Given the description of an element on the screen output the (x, y) to click on. 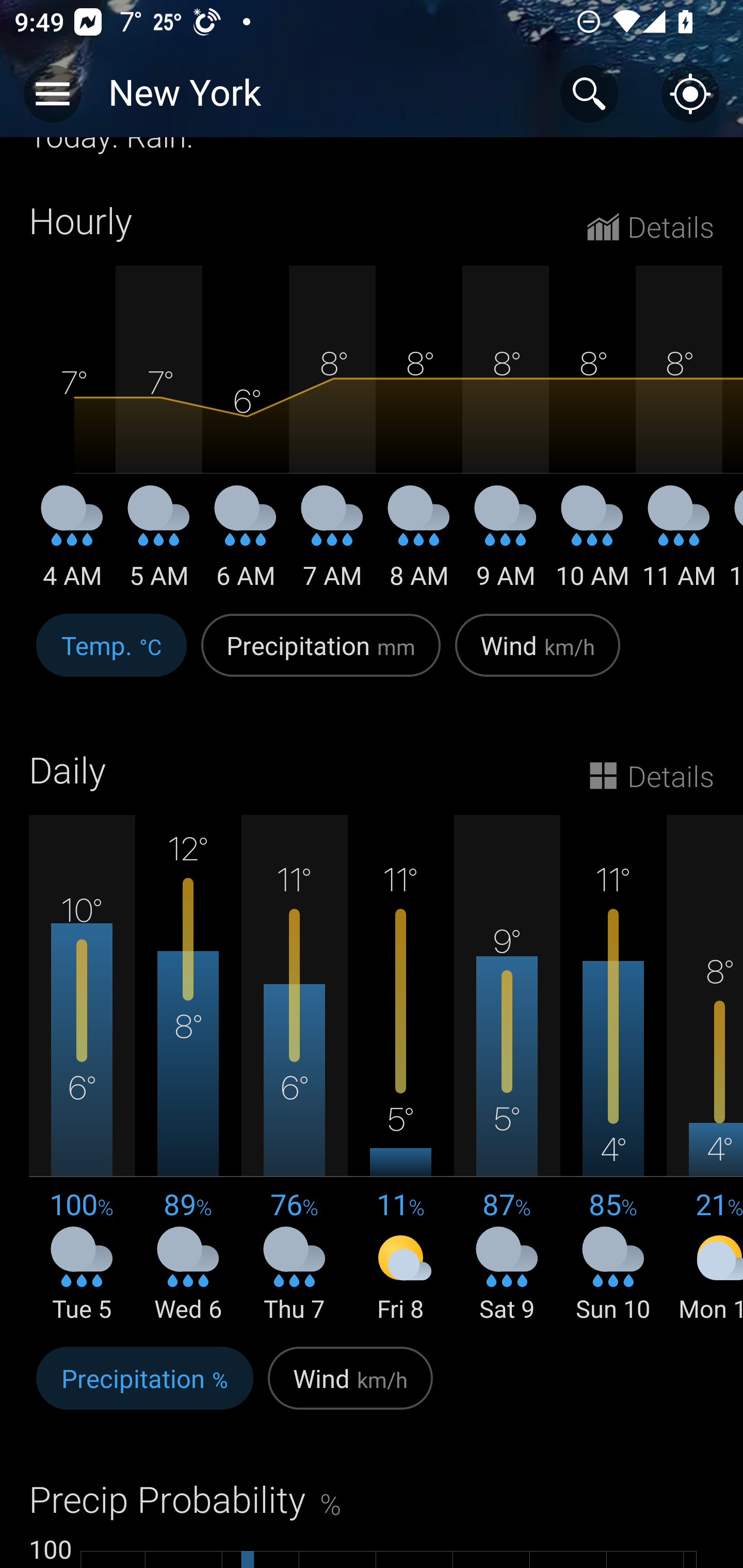
4 AM (71, 544)
5 AM (158, 544)
6 AM (245, 544)
7 AM (332, 544)
8 AM (418, 544)
9 AM (505, 544)
10 AM (592, 544)
11 AM (679, 544)
Temp. °C (110, 655)
Precipitation mm (320, 655)
Wind km/h (537, 655)
10° 6° 100 % Tue 5 (81, 1069)
12° 8° 89 % Wed 6 (188, 1069)
11° 6° 76 % Thu 7 (294, 1069)
11° 5° 11 % Fri 8 (400, 1069)
9° 5° 87 % Sat 9 (506, 1069)
11° 4° 85 % Sun 10 (613, 1069)
8° 4° 21 % Mon 11 (704, 1069)
Precipitation % (144, 1388)
Wind km/h (349, 1388)
